Given the description of an element on the screen output the (x, y) to click on. 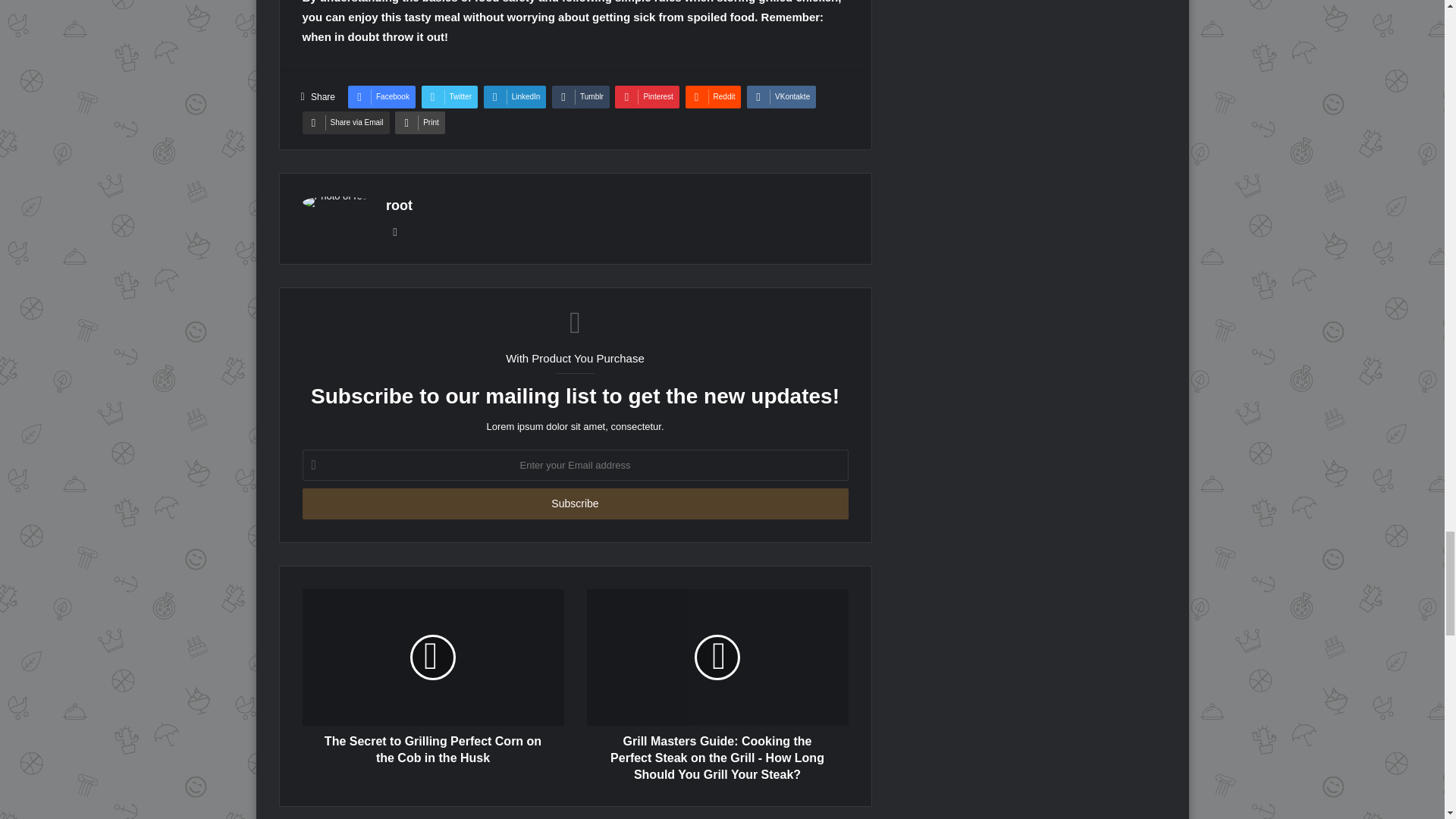
Twitter (449, 96)
Facebook (380, 96)
Subscribe (574, 503)
Tumblr (580, 96)
LinkedIn (515, 96)
